Given the description of an element on the screen output the (x, y) to click on. 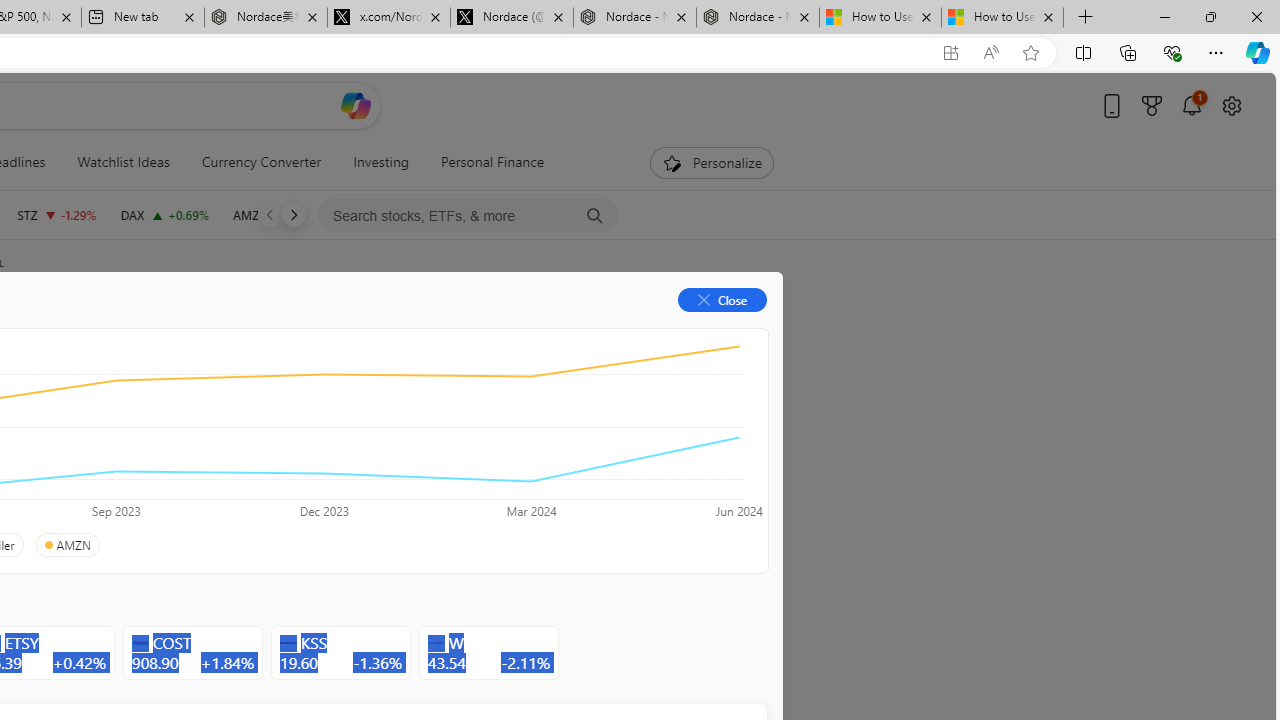
Efficiency (216, 445)
STZ CONSTELLATION BRANDS, INC. decrease 239.98 -3.13 -1.29% (56, 214)
Investing (381, 162)
Personal Finance (493, 162)
Earnings (398, 331)
Financials (209, 331)
x.com/NordaceOfficial (388, 17)
App available. Install Start Money (950, 53)
